Given the description of an element on the screen output the (x, y) to click on. 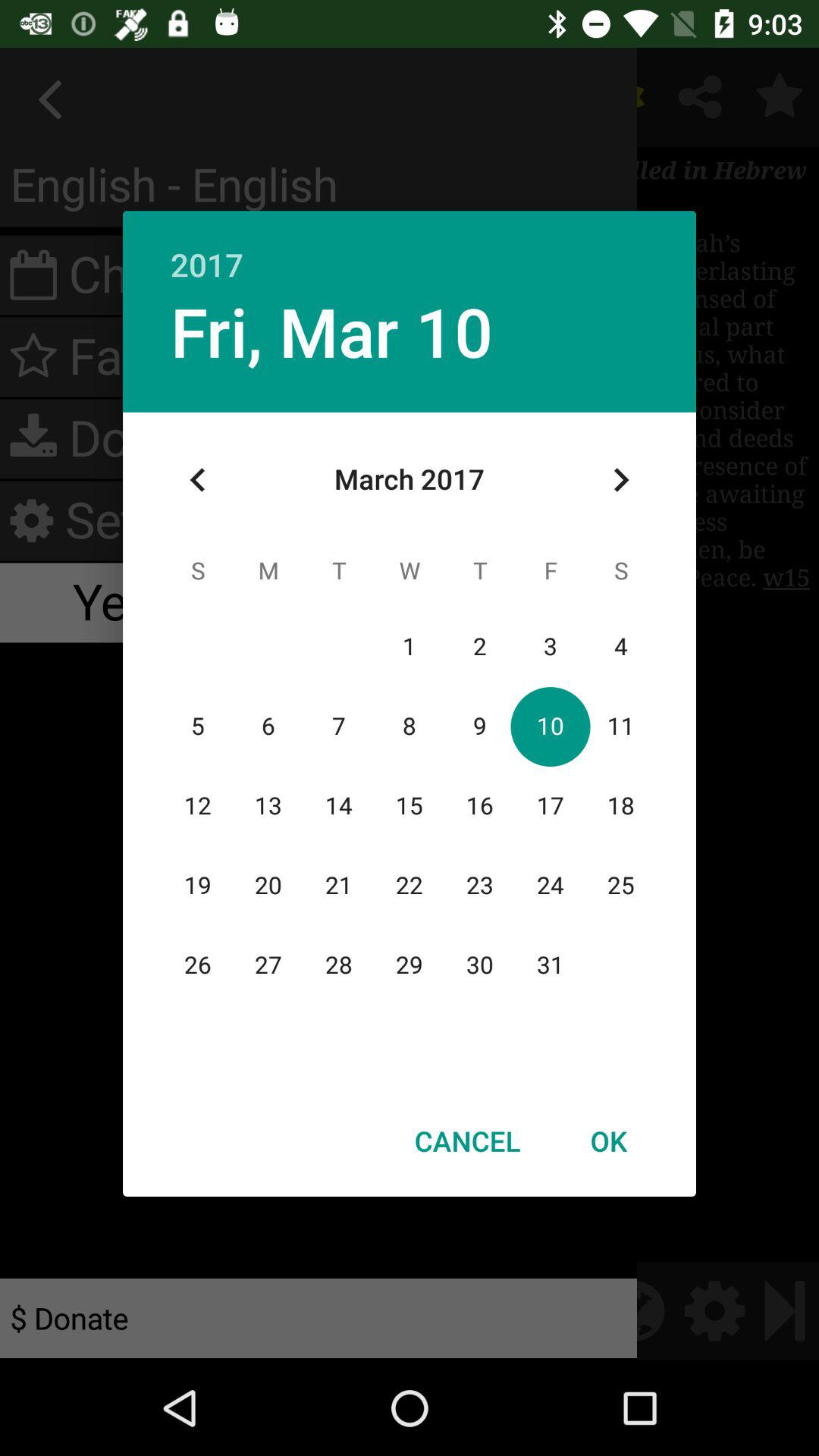
select icon at the top right corner (620, 479)
